Given the description of an element on the screen output the (x, y) to click on. 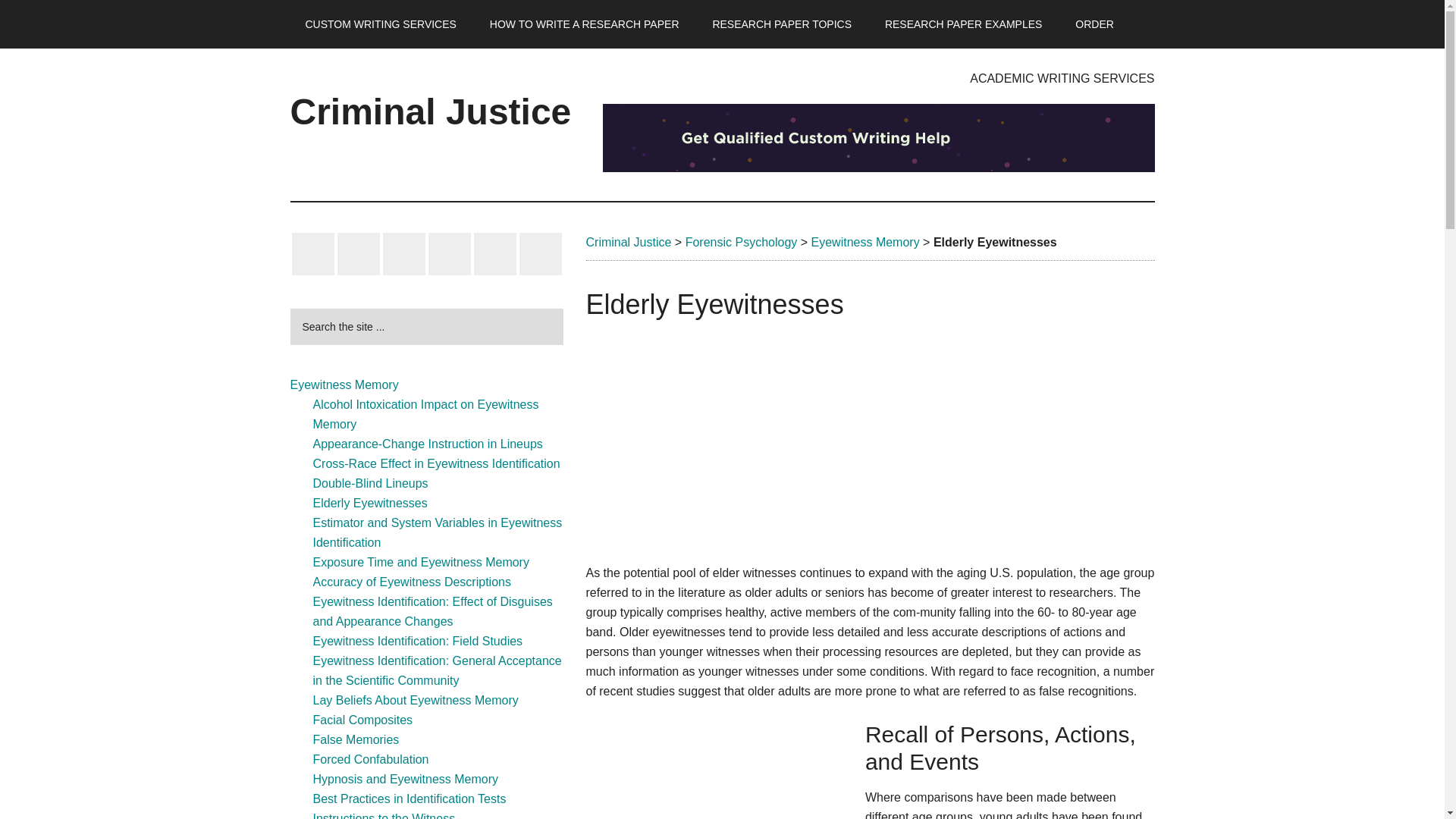
Criminal Justice (628, 241)
Accuracy of Eyewitness Descriptions (412, 581)
Appearance-Change Instruction in Lineups (427, 443)
CUSTOM WRITING SERVICES (379, 24)
Double-Blind Lineups (370, 482)
RESEARCH PAPER TOPICS (781, 24)
Double-Blind Lineups (370, 482)
ORDER (1094, 24)
HOW TO WRITE A RESEARCH PAPER (584, 24)
Estimator and System Variables in Eyewitness Identification (437, 532)
Appearance-Change Instruction in Lineups (427, 443)
Eyewitness Memory (343, 384)
Elderly Eyewitnesses (369, 502)
